Given the description of an element on the screen output the (x, y) to click on. 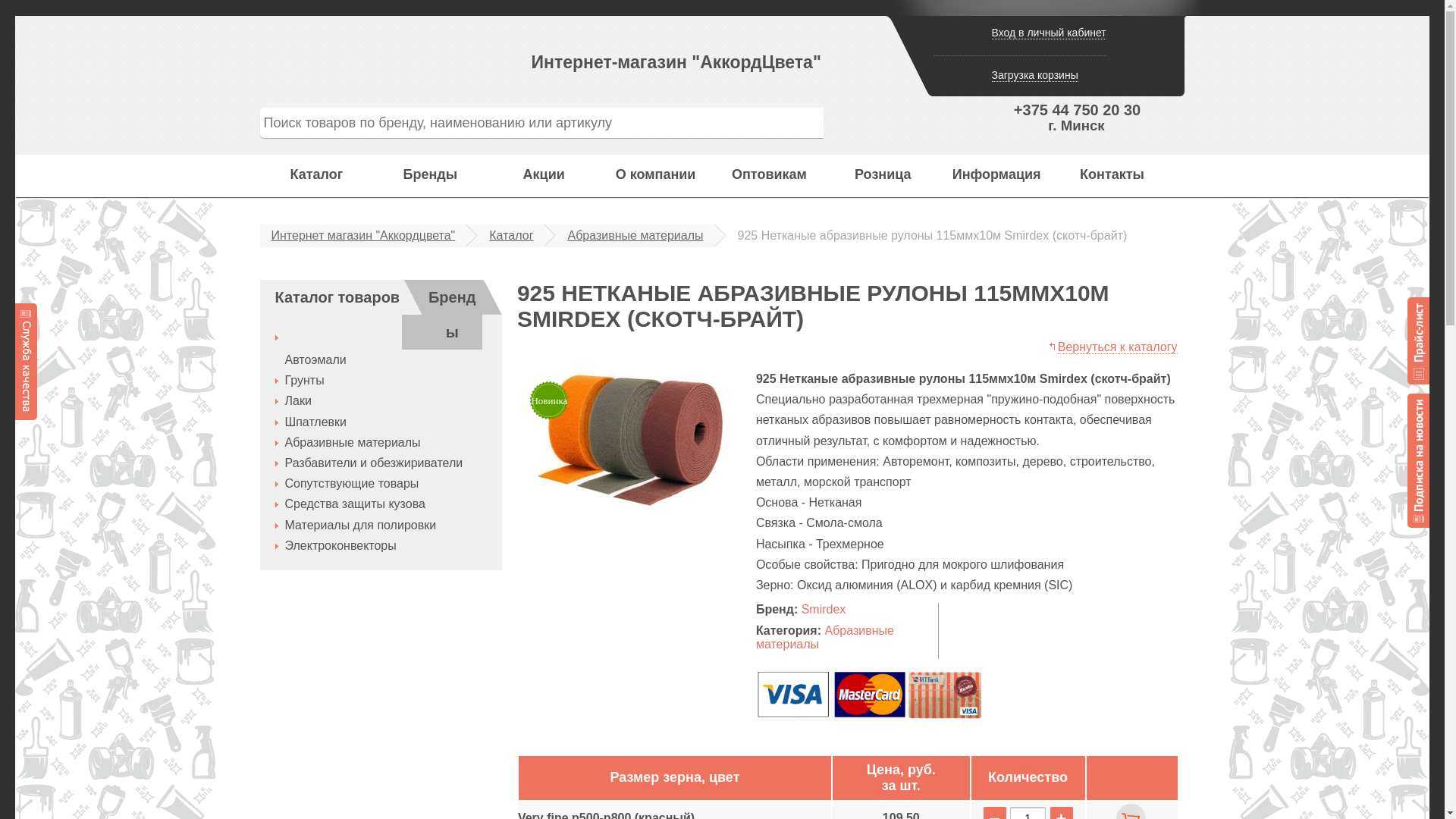
Smirdex Element type: text (823, 608)
# Element type: hover (1418, 340)
# Element type: hover (1418, 459)
